Given the description of an element on the screen output the (x, y) to click on. 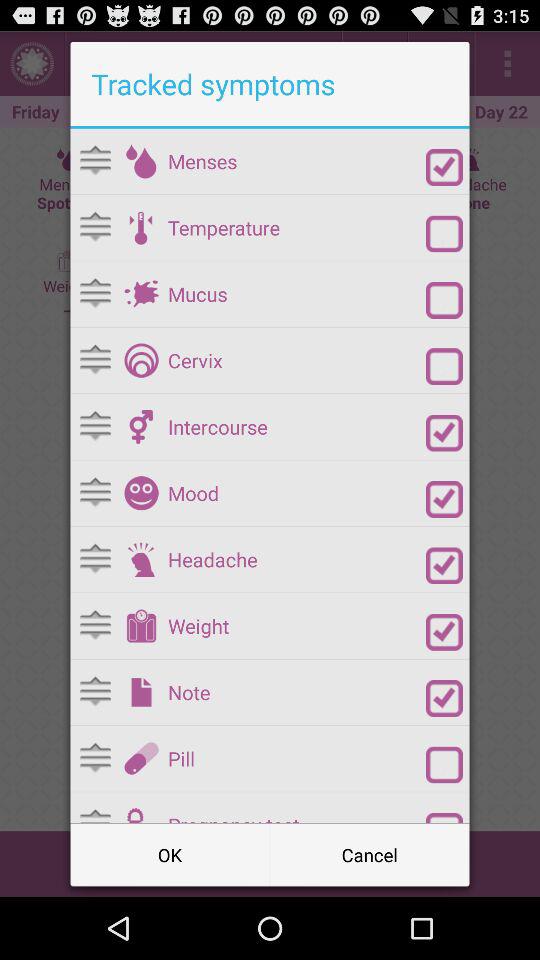
press mucus icon (296, 293)
